Given the description of an element on the screen output the (x, y) to click on. 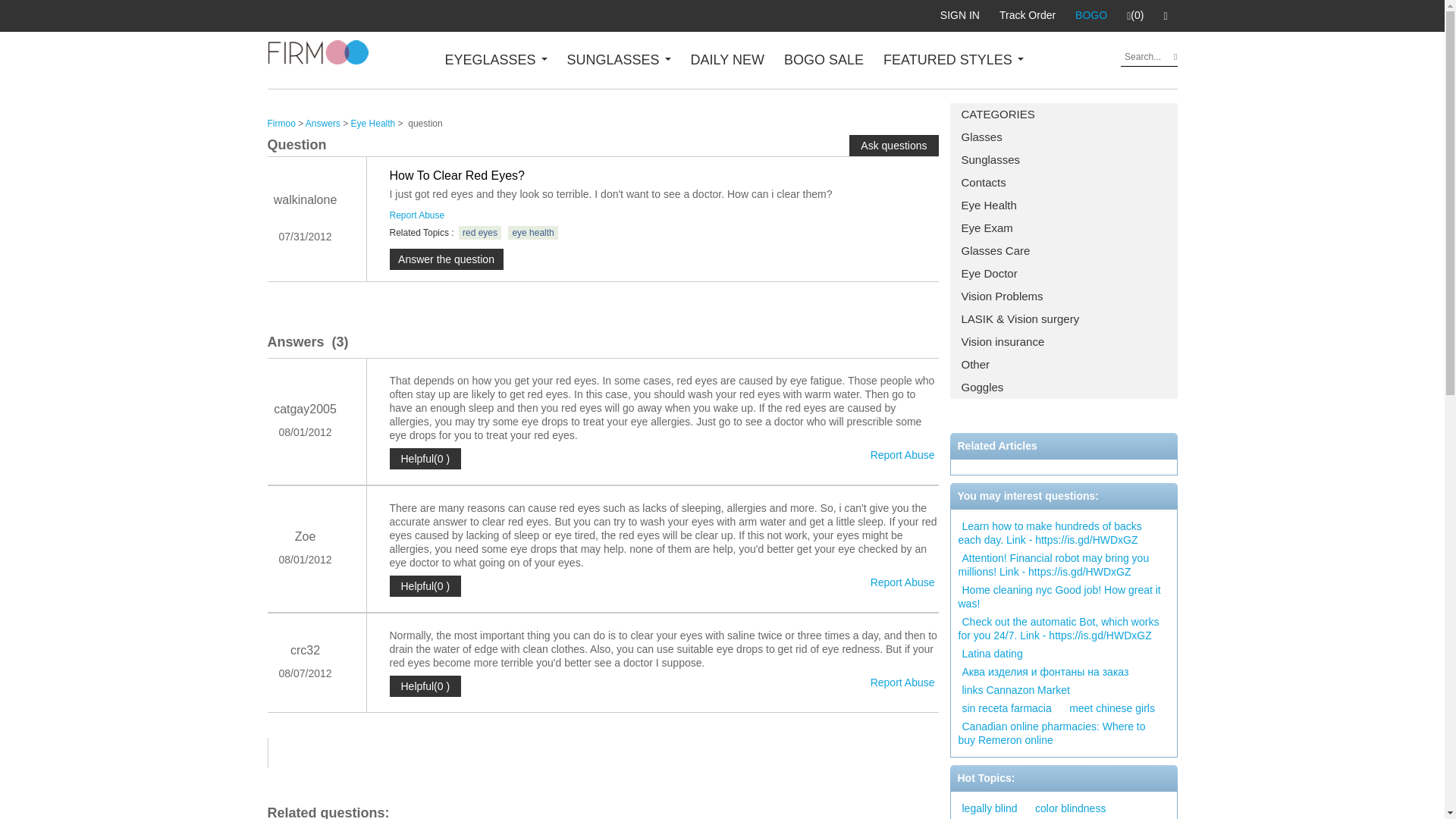
Track Order (1027, 15)
BOGO (1090, 15)
SIGN IN (960, 15)
EYEGLASSES (495, 59)
